Given the description of an element on the screen output the (x, y) to click on. 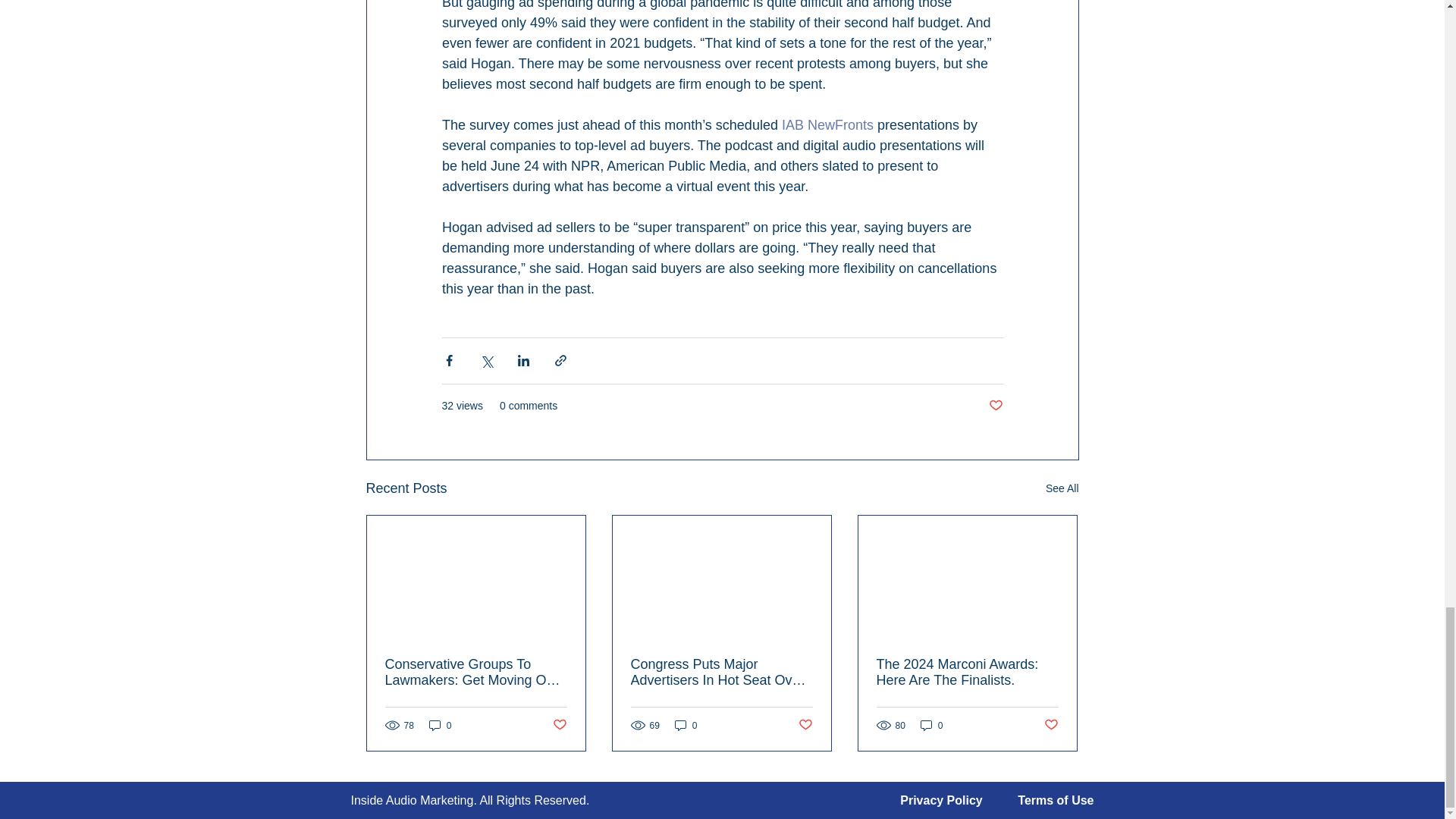
Privacy Policy (940, 799)
0 (685, 725)
The 2024 Marconi Awards: Here Are The Finalists. (967, 672)
Terms of Use (1055, 799)
See All (1061, 488)
IAB NewFronts (826, 124)
Inside Audio Marketing. All Rights Reserved. (469, 799)
Post not marked as liked (558, 725)
Post not marked as liked (995, 406)
